Given the description of an element on the screen output the (x, y) to click on. 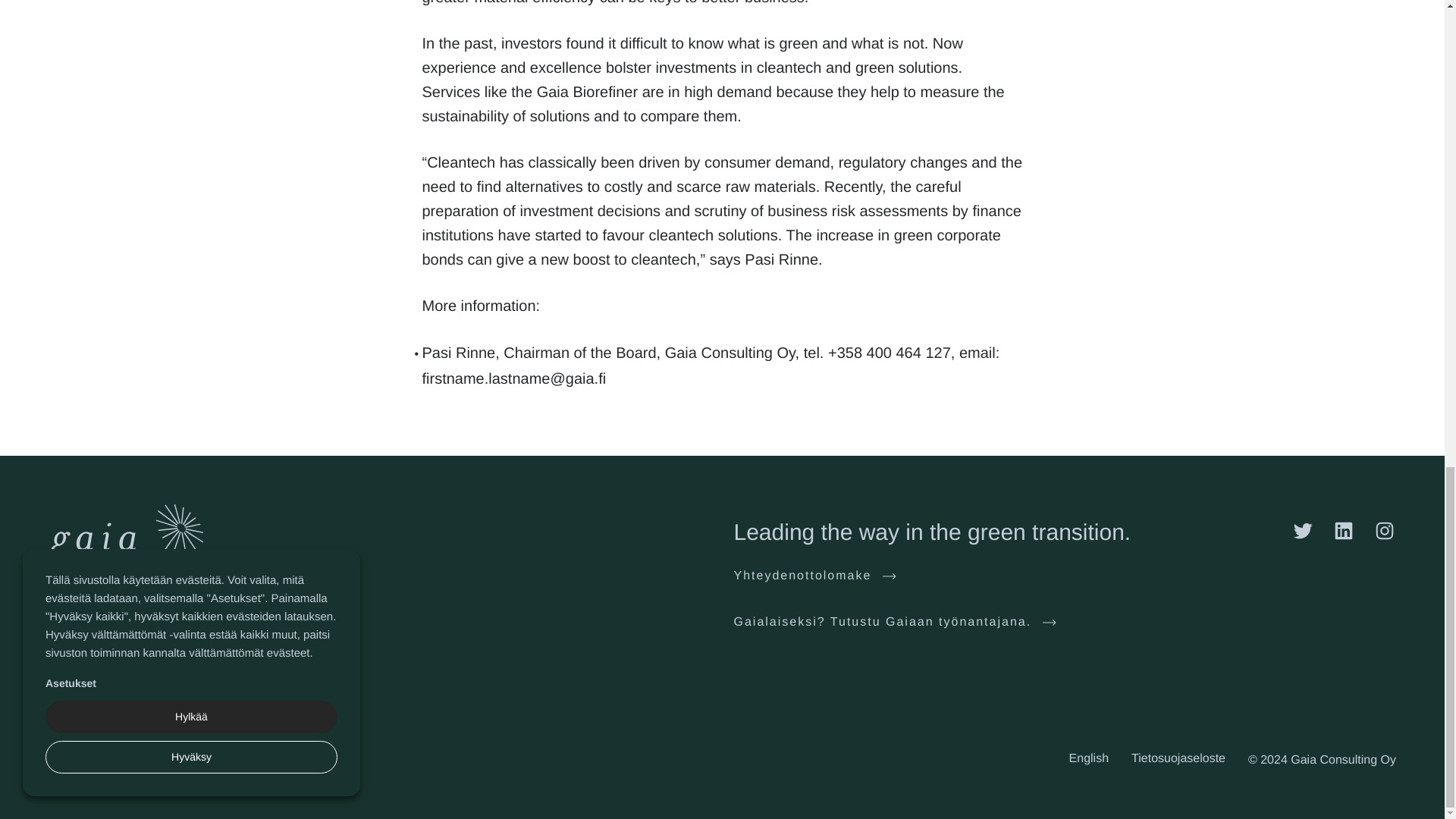
Instagram (1384, 530)
Tietosuojaseloste (1178, 758)
LinkedIn (1343, 530)
English (1088, 758)
Twitter (1302, 530)
Yhteydenottolomake (814, 576)
